Given the description of an element on the screen output the (x, y) to click on. 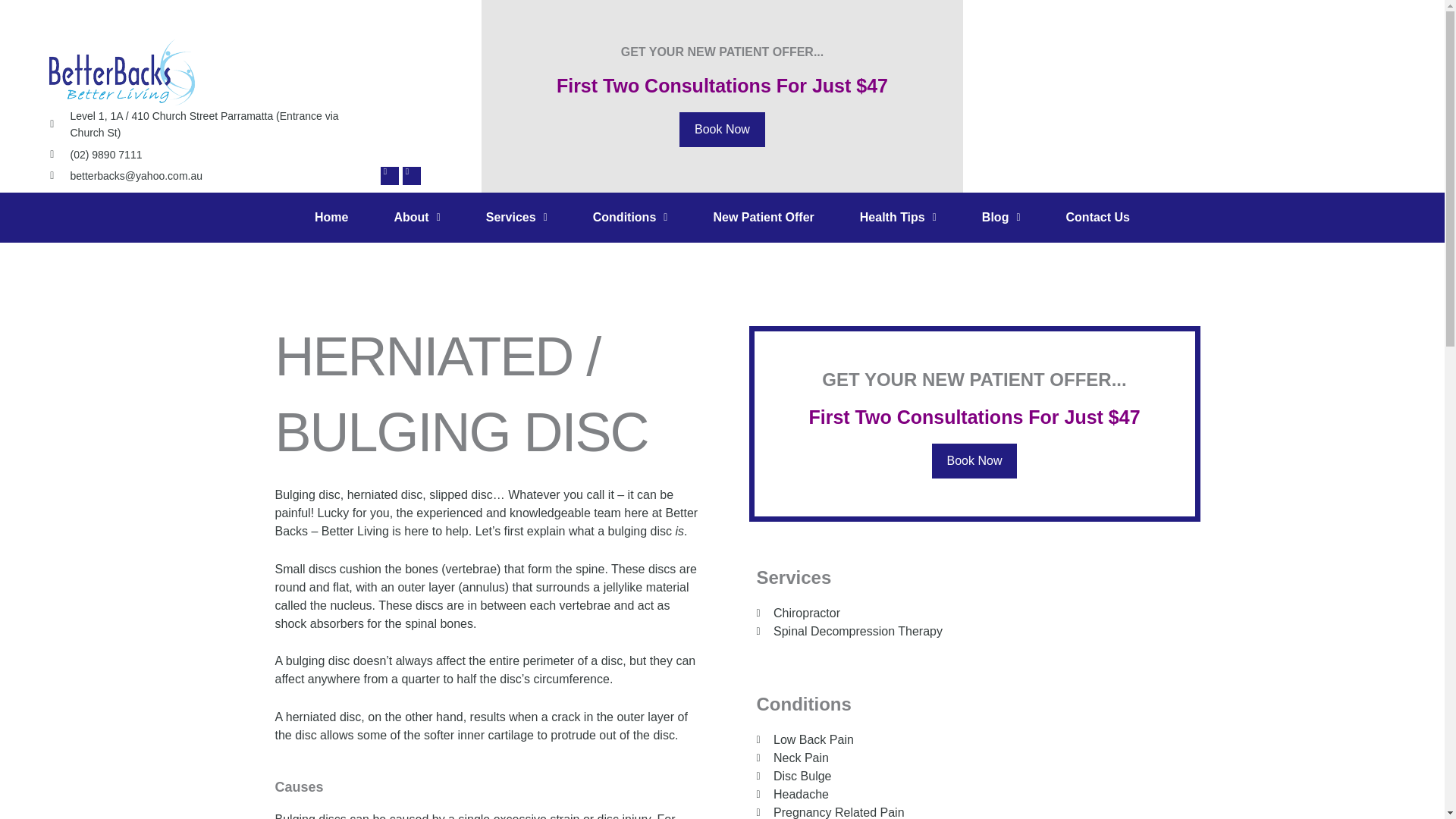
Conditions (630, 217)
Book Now (722, 129)
Health Tips (898, 217)
Services (516, 217)
Contact Us (1098, 217)
New Patient Offer (762, 217)
About (417, 217)
Blog (1001, 217)
Home (331, 217)
